Given the description of an element on the screen output the (x, y) to click on. 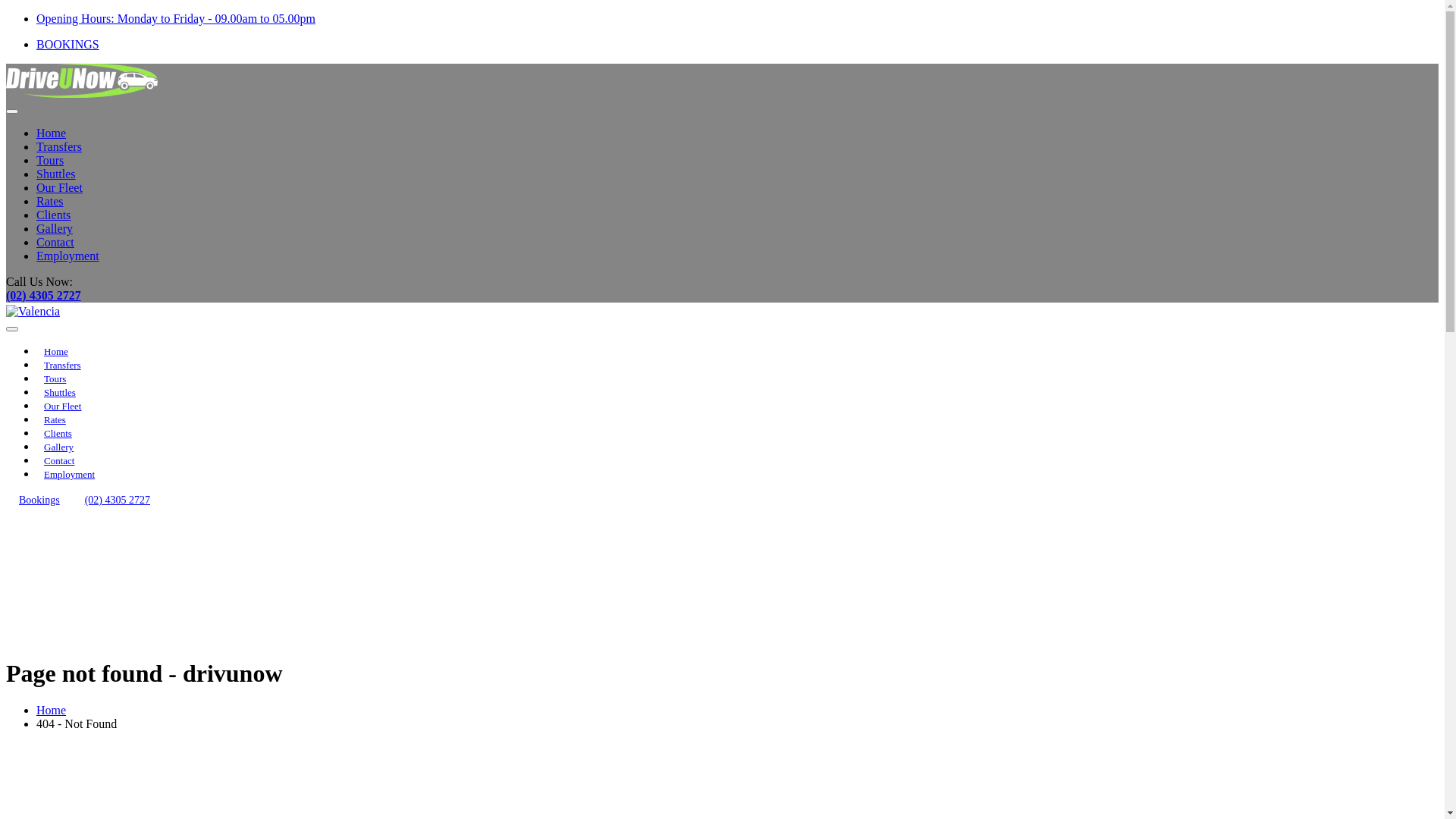
Our Fleet Element type: text (62, 405)
(02) 4305 2727 Element type: text (43, 294)
Tours Element type: text (54, 378)
Transfers Element type: text (58, 146)
Our Fleet Element type: text (59, 187)
Shuttles Element type: text (55, 173)
Valencia Element type: hover (32, 311)
Employment Element type: text (69, 473)
BOOKINGS Element type: text (67, 43)
Home Element type: text (50, 132)
Opening Hours: Monday to Friday - 09.00am to 05.00pm Element type: text (175, 18)
Contact Element type: text (58, 460)
Tours Element type: text (49, 159)
Gallery Element type: text (58, 446)
(02) 4305 2727 Element type: text (117, 500)
Bookings Element type: text (39, 500)
Contact Element type: text (55, 241)
Valencia Element type: hover (81, 80)
Transfers Element type: text (62, 364)
Rates Element type: text (54, 419)
Rates Element type: text (49, 200)
Home Element type: text (50, 709)
Clients Element type: text (57, 432)
Home Element type: text (55, 351)
Clients Element type: text (53, 214)
Shuttles Element type: text (59, 392)
Gallery Element type: text (54, 228)
Employment Element type: text (67, 255)
